Given the description of an element on the screen output the (x, y) to click on. 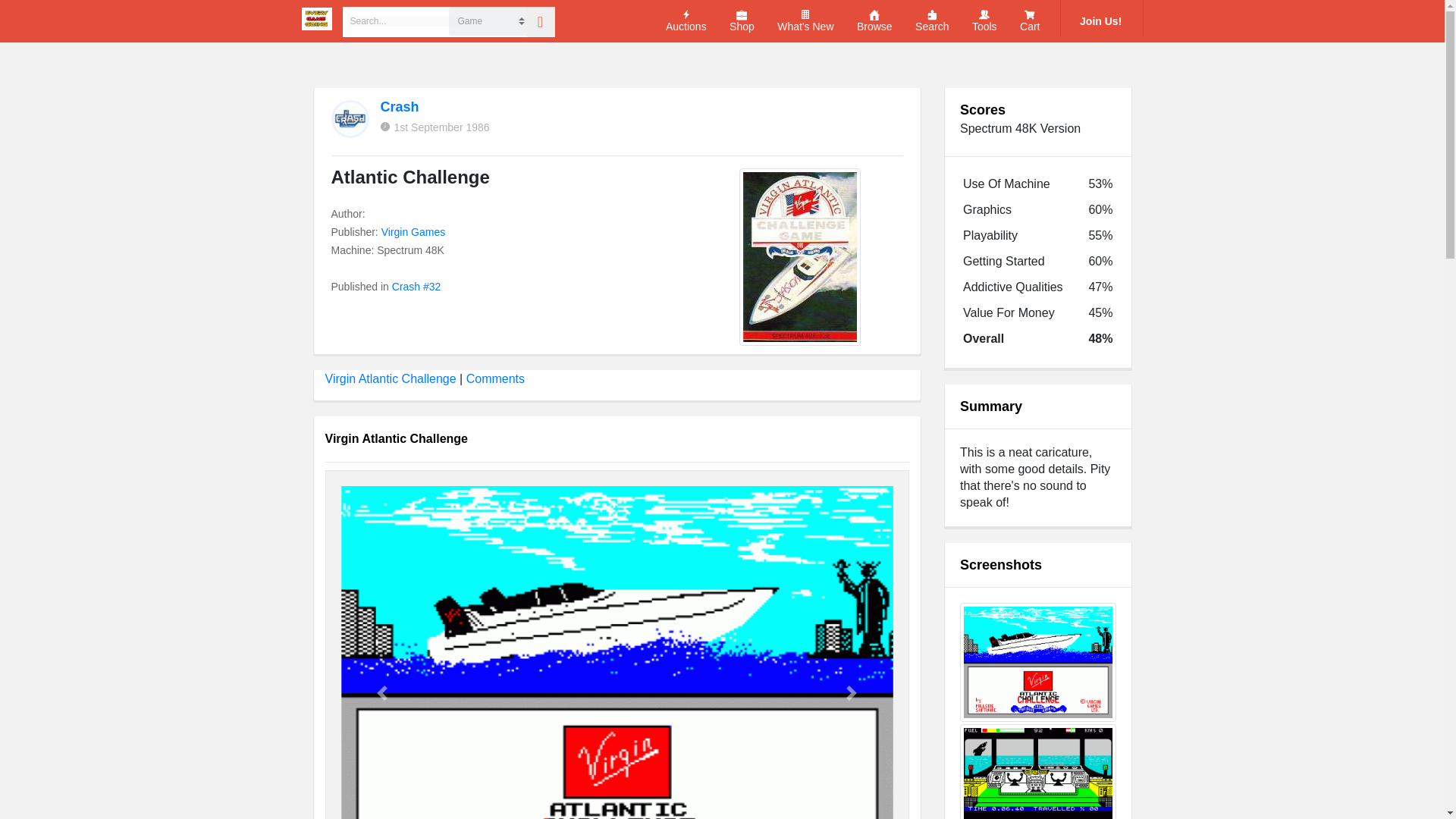
Search (932, 20)
Browse (874, 20)
Shop (741, 20)
Auctions (685, 20)
Tools (984, 20)
What's New (804, 20)
